Given the description of an element on the screen output the (x, y) to click on. 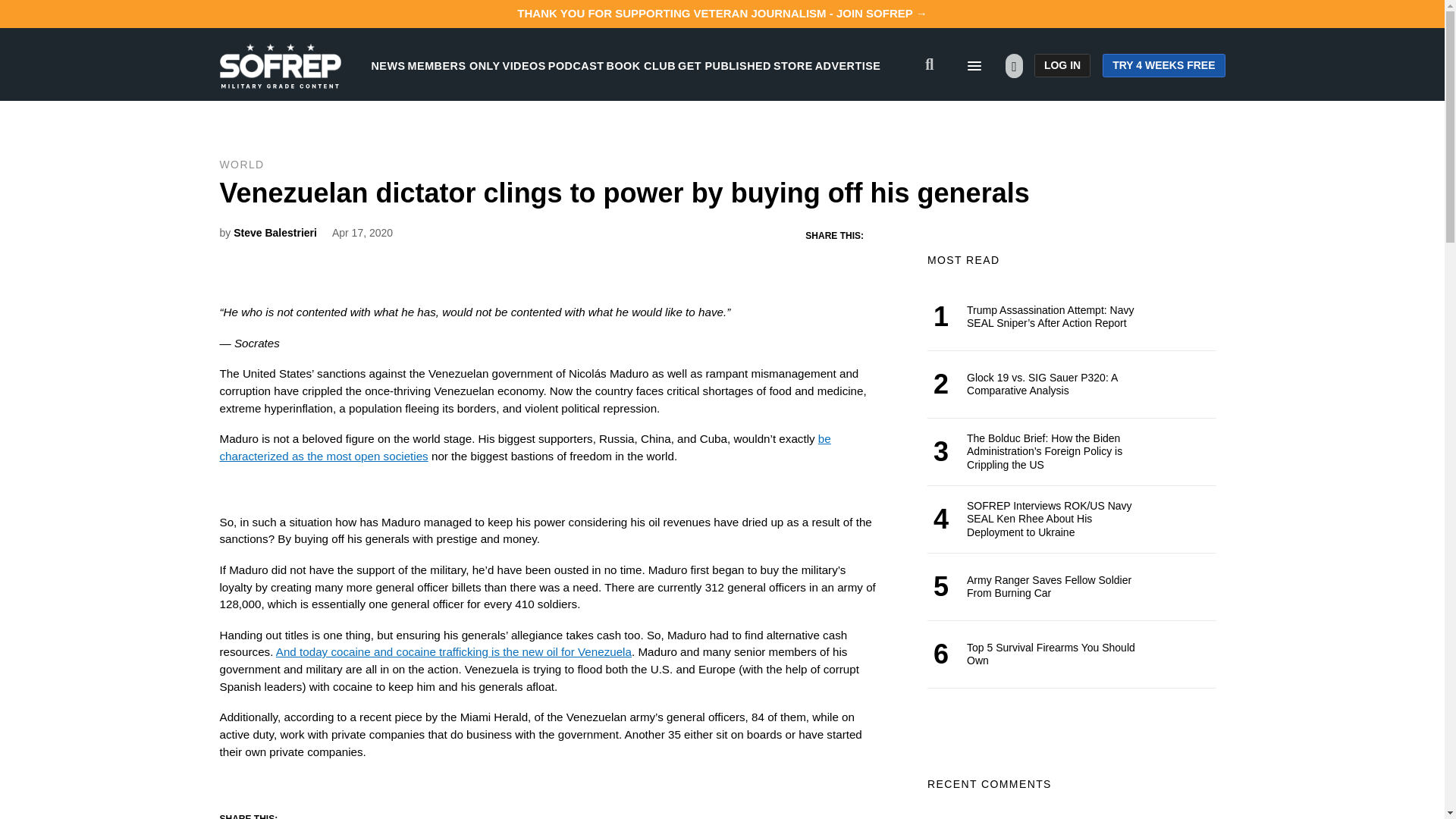
LOG IN (1061, 65)
PODCAST (576, 65)
VIDEOS (524, 65)
ADVERTISE (847, 65)
BOOK CLUB (641, 65)
GET PUBLISHED (724, 65)
MEMBERS ONLY (453, 65)
STORE (792, 65)
TRY 4 WEEKS FREE (1163, 65)
NEWS (388, 65)
